Given the description of an element on the screen output the (x, y) to click on. 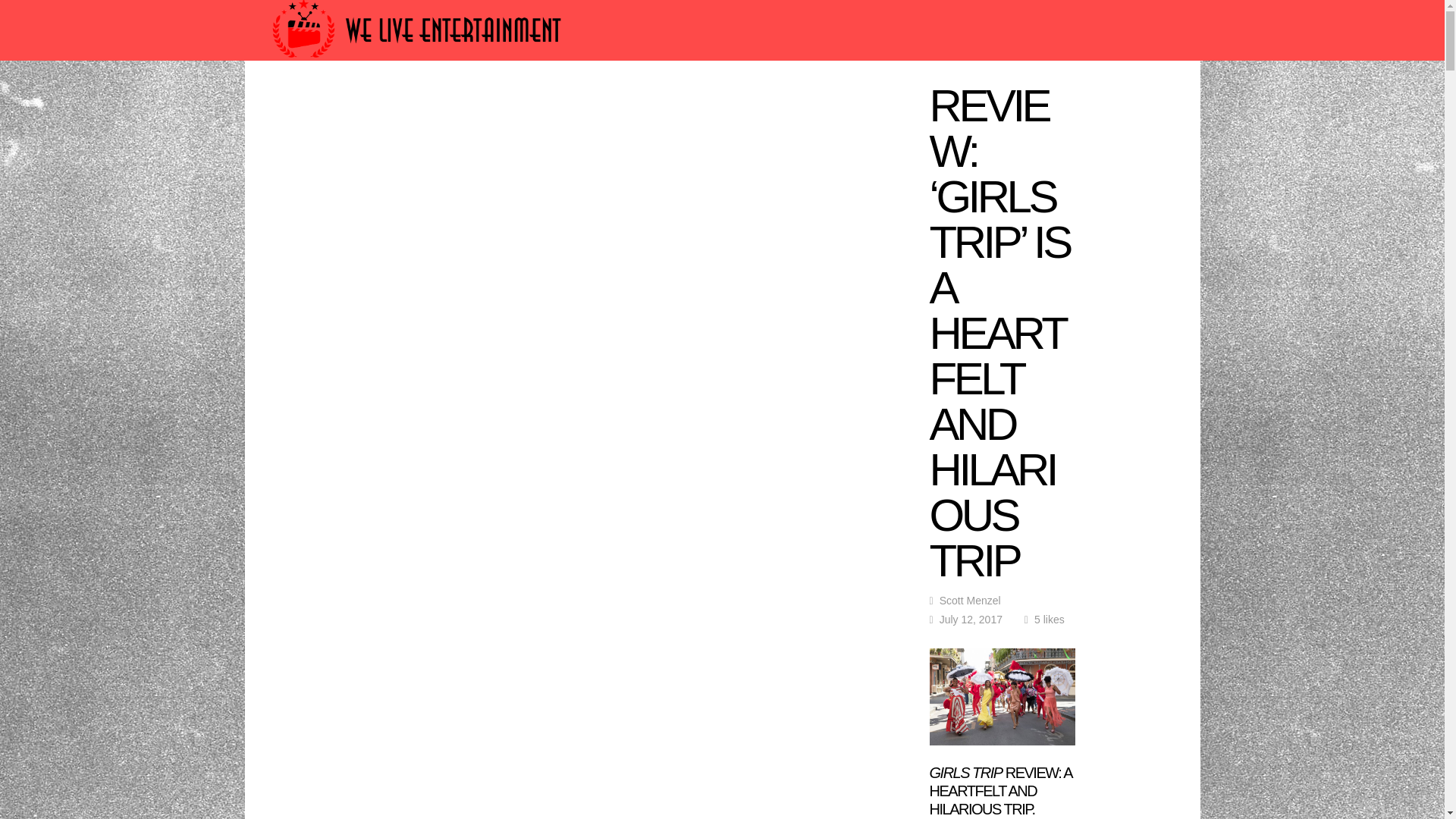
WE LIVE TV SHOWS (671, 103)
HOME (325, 103)
WE LIVE FILM (542, 103)
We Live Entertainment (418, 63)
WE LIVE ENTERTAINMENT (841, 103)
WE LIVE AWARDS (421, 103)
